Given the description of an element on the screen output the (x, y) to click on. 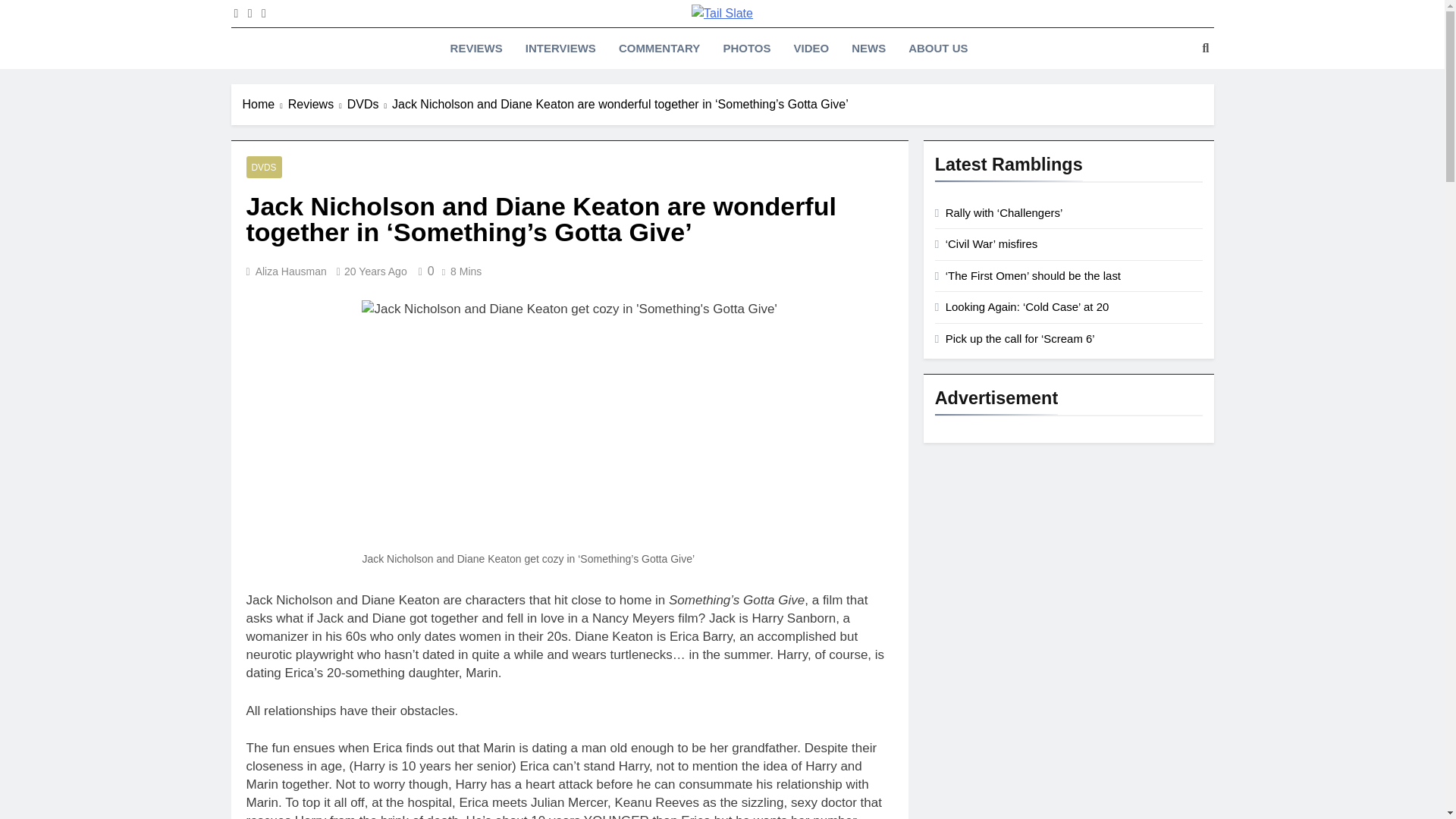
ABOUT US (937, 47)
20 Years Ago (375, 271)
REVIEWS (476, 47)
Home (265, 104)
PHOTOS (746, 47)
NEWS (868, 47)
DVDs (369, 104)
VIDEO (810, 47)
0 (423, 270)
Reviews (317, 104)
